Given the description of an element on the screen output the (x, y) to click on. 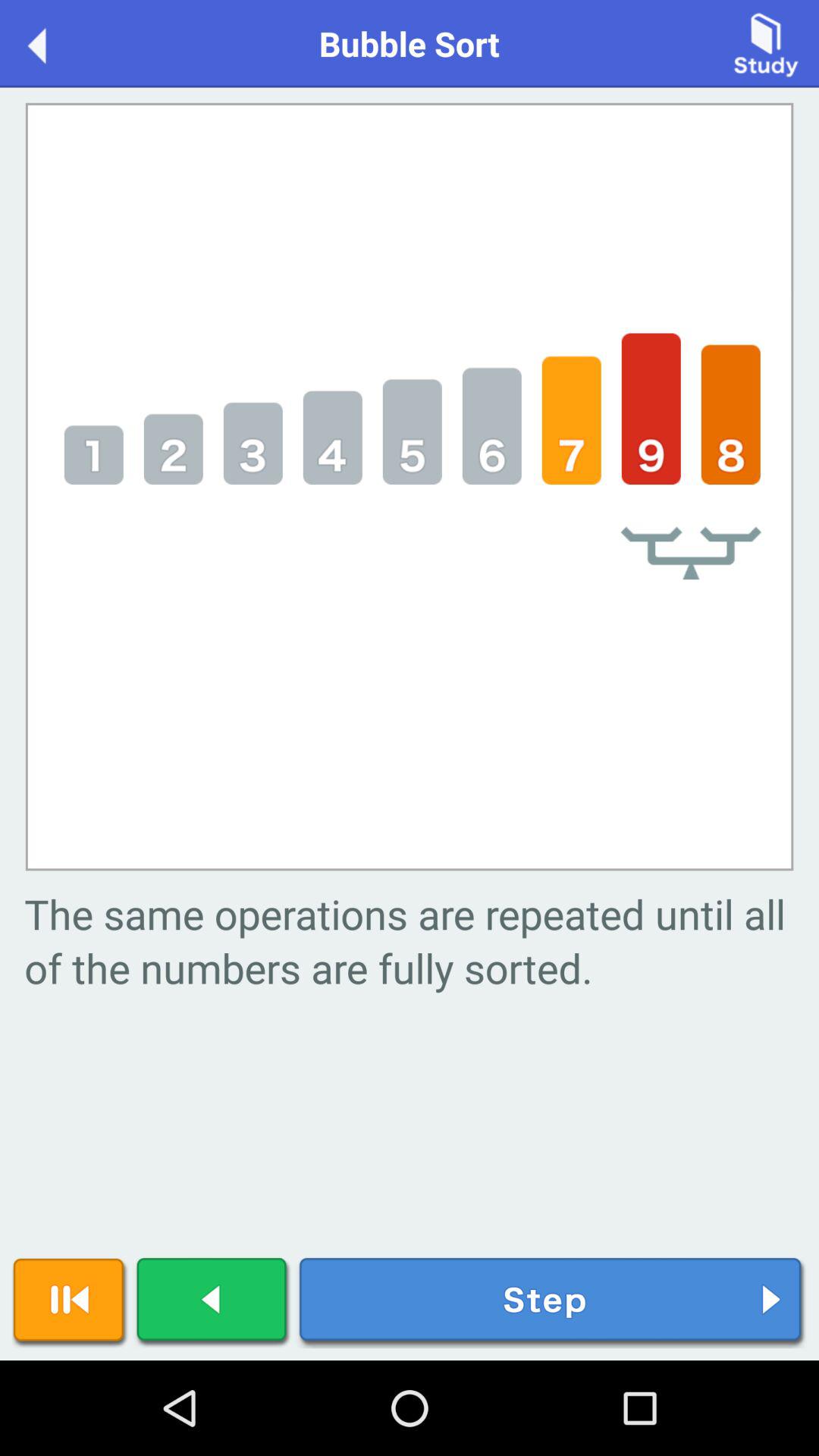
go back (213, 1302)
